Given the description of an element on the screen output the (x, y) to click on. 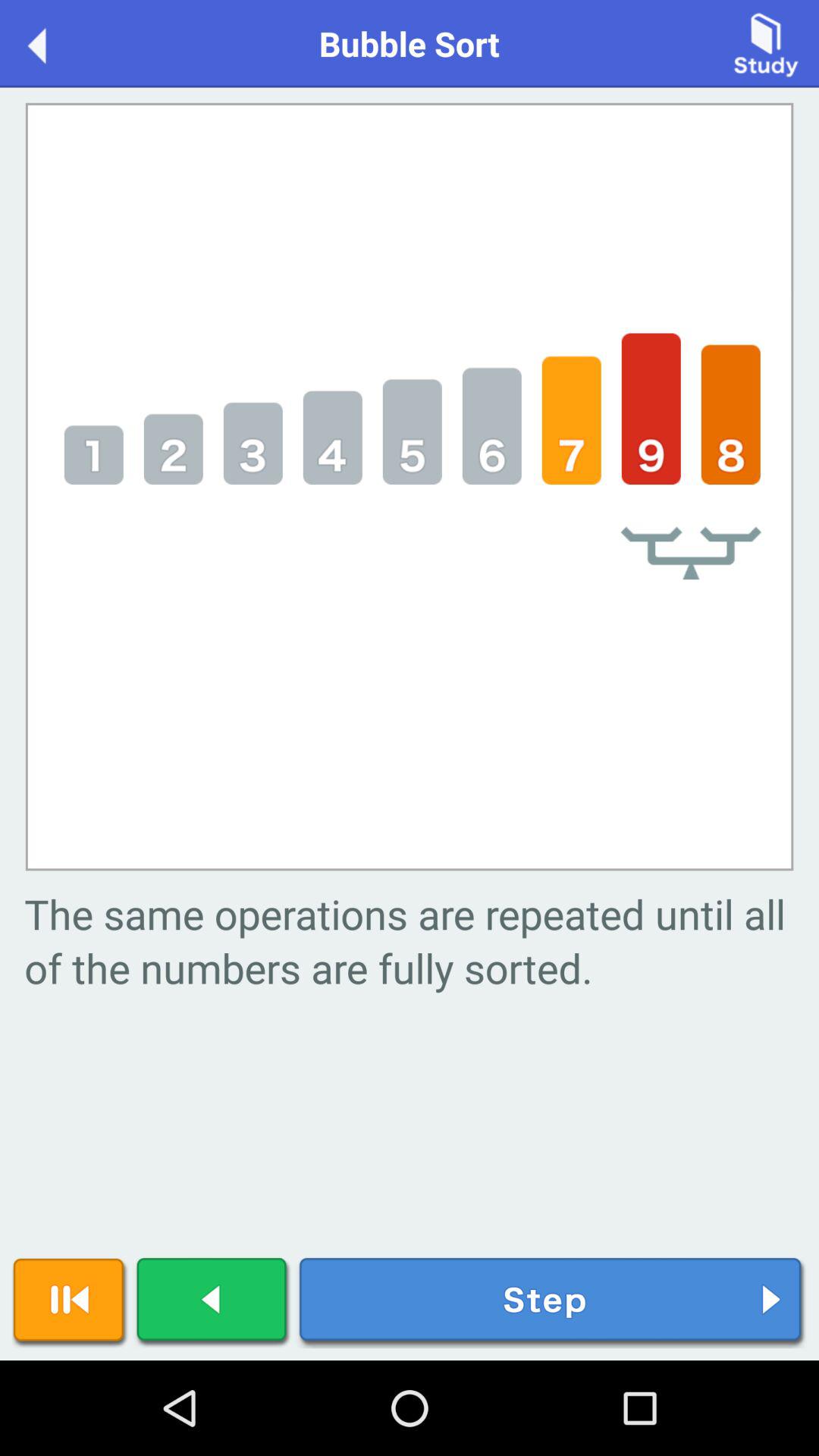
go back (213, 1302)
